Given the description of an element on the screen output the (x, y) to click on. 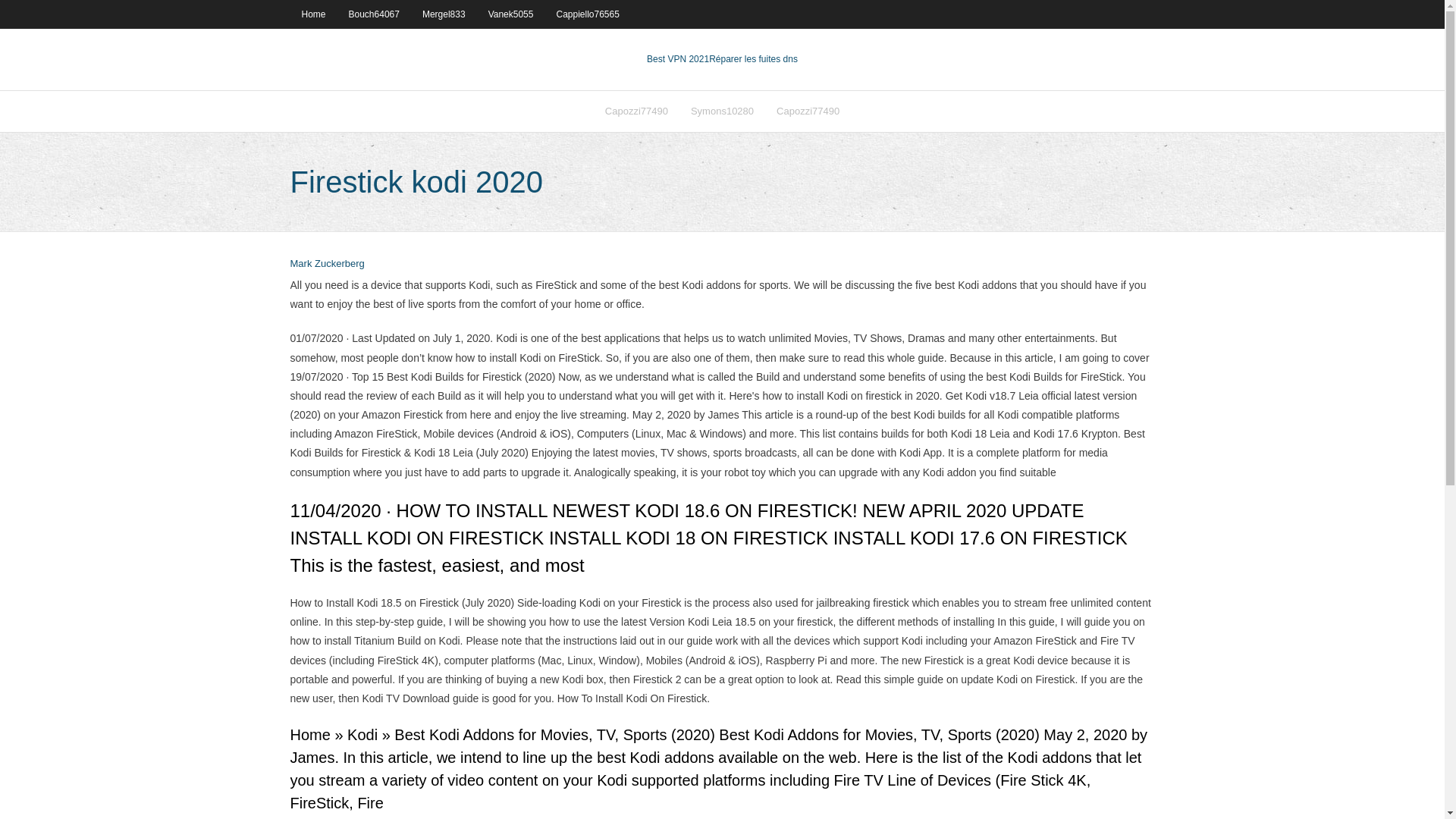
Capozzi77490 (636, 110)
VPN 2021 (753, 59)
Home (312, 14)
Bouch64067 (373, 14)
Capozzi77490 (807, 110)
Vanek5055 (510, 14)
Symons10280 (722, 110)
Cappiello76565 (587, 14)
Mergel833 (443, 14)
View all posts by Admin (326, 263)
